Given the description of an element on the screen output the (x, y) to click on. 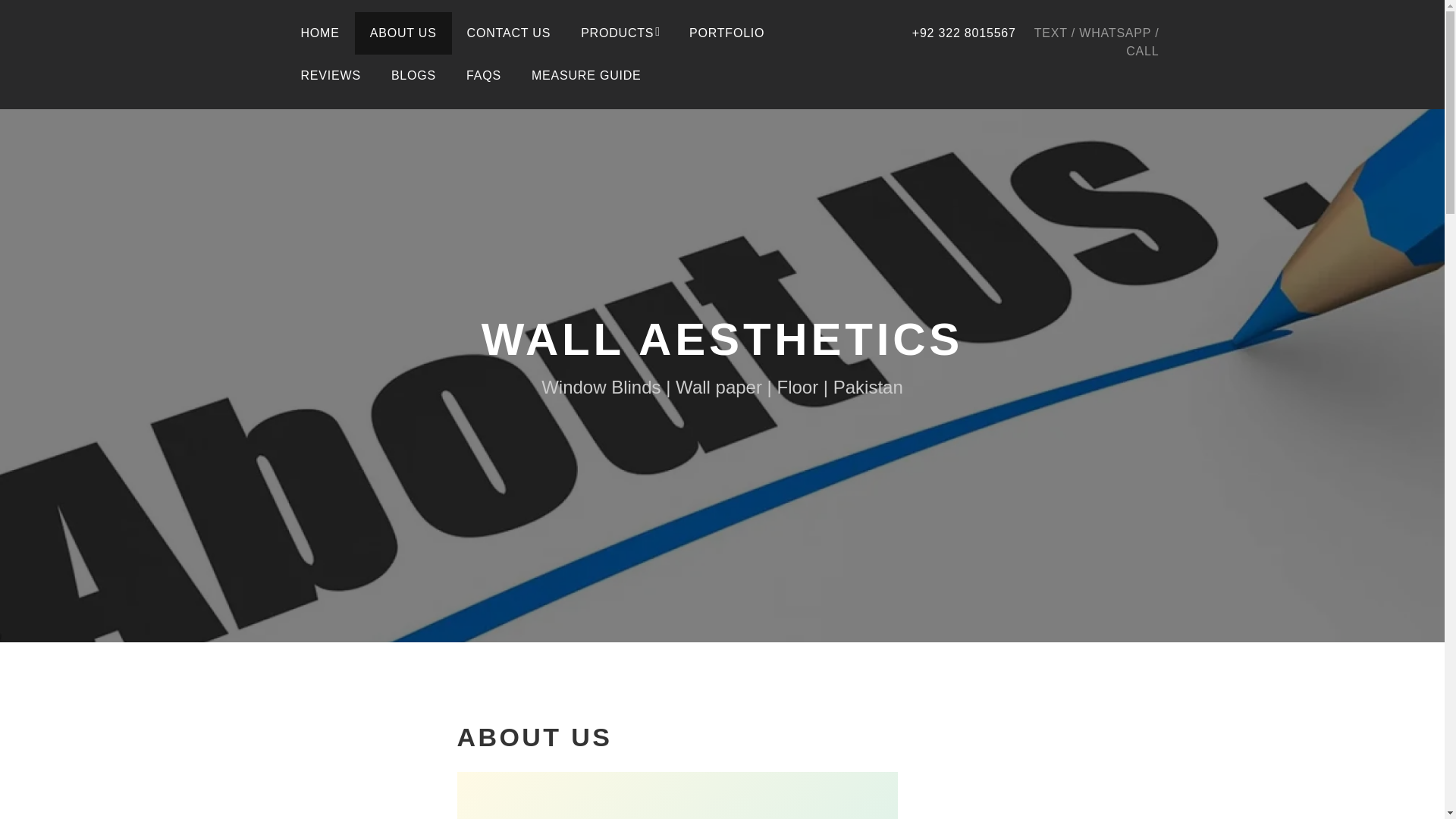
HOME (319, 33)
PRODUCTS (620, 33)
ABOUT US (403, 33)
CONTACT US (508, 33)
